Given the description of an element on the screen output the (x, y) to click on. 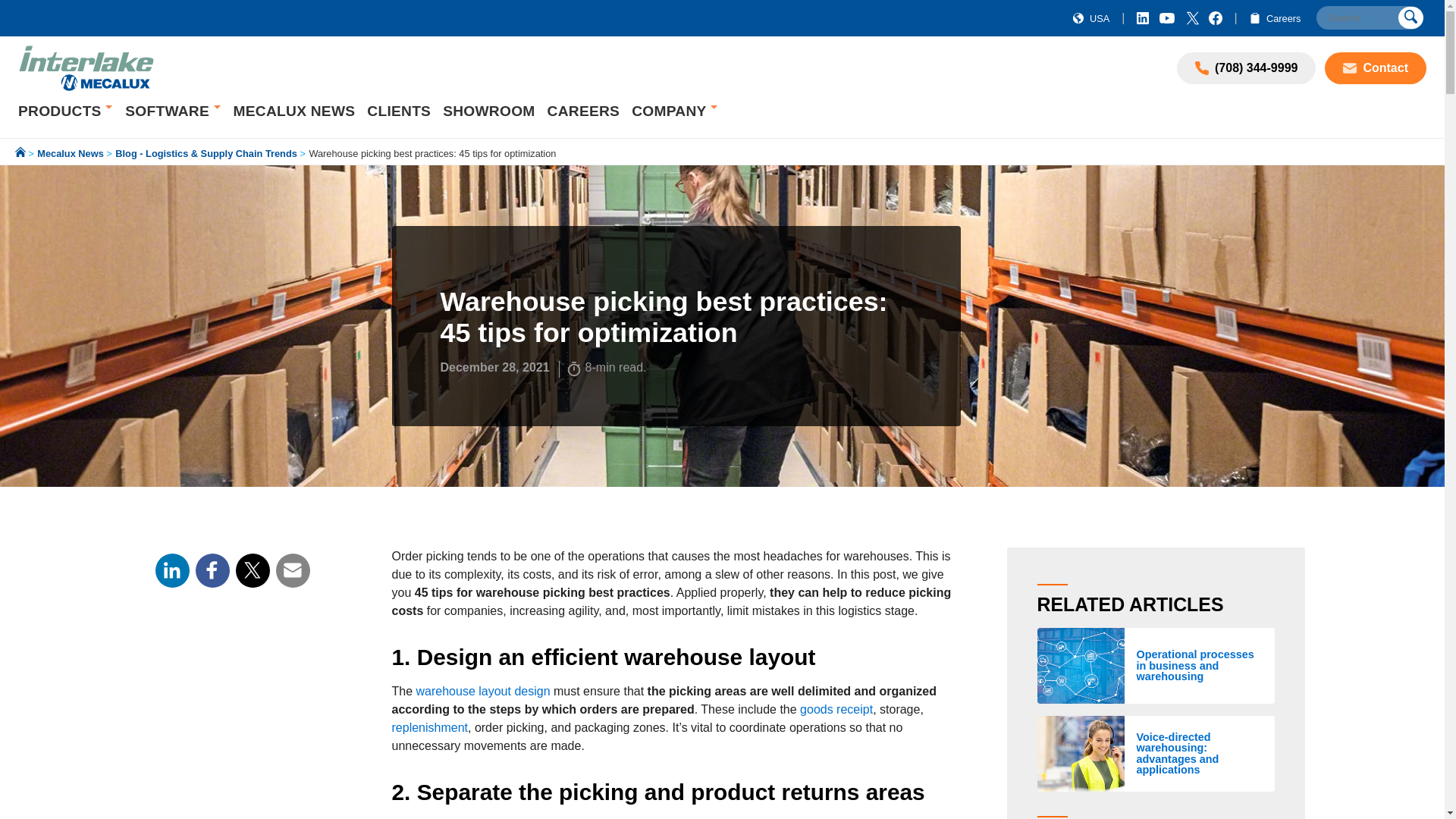
Warehouse storage solutions (60, 110)
PRODUCTS (60, 110)
Careers (1254, 18)
Email (292, 570)
LinkedIn (171, 570)
Careers (1272, 17)
Search (1369, 17)
Facebook (212, 570)
Interlake Mecalux, Warehouse solutions (85, 67)
Contact (1375, 68)
